Given the description of an element on the screen output the (x, y) to click on. 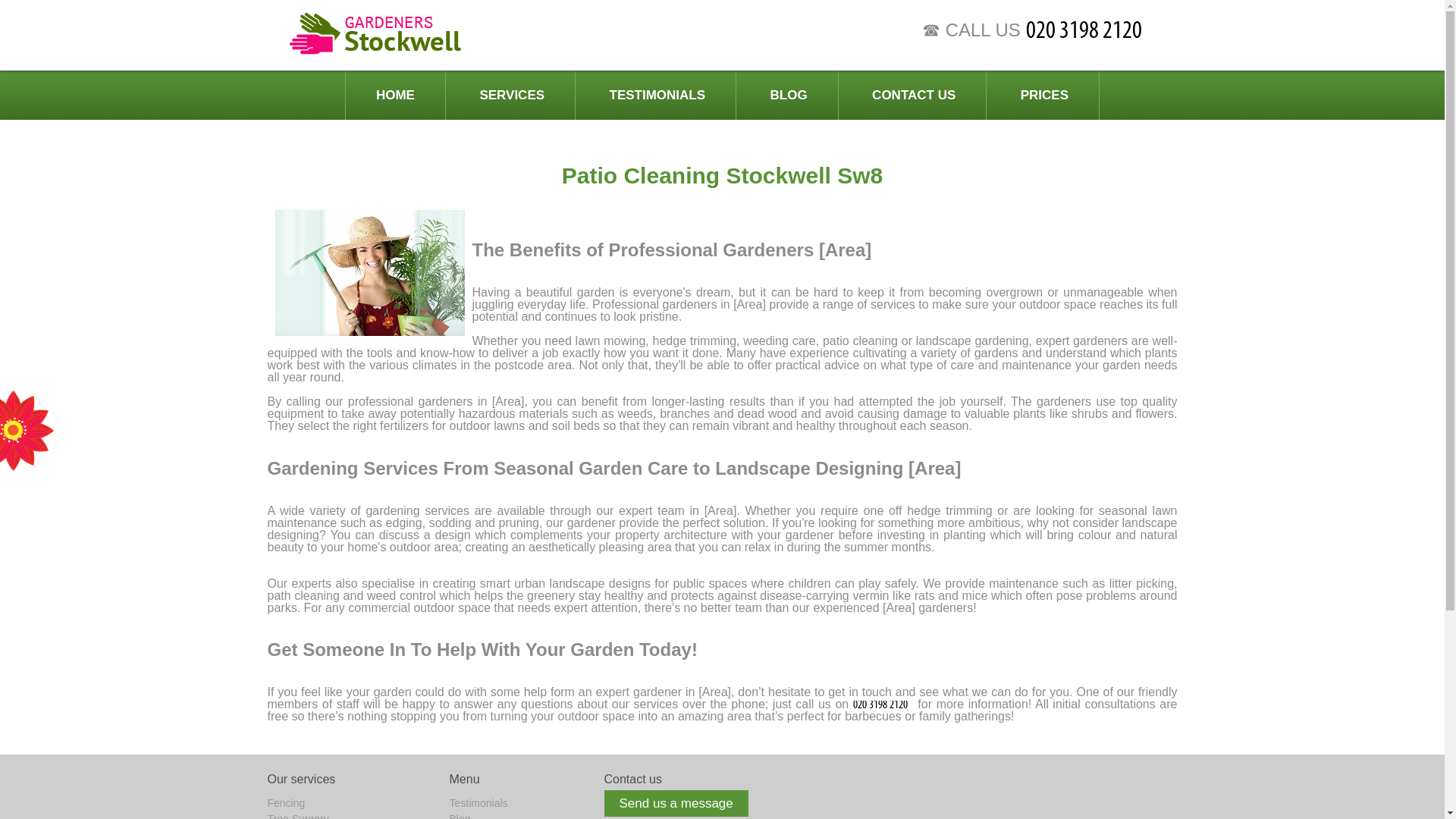
Fencing (285, 802)
TESTIMONIALS (657, 94)
Call Now! (1100, 29)
PRICES (1044, 94)
BLOG (788, 94)
Call Now! (883, 703)
SERVICES (511, 94)
HOME (395, 94)
CONTACT US (914, 94)
Tree Surgery (297, 816)
